Given the description of an element on the screen output the (x, y) to click on. 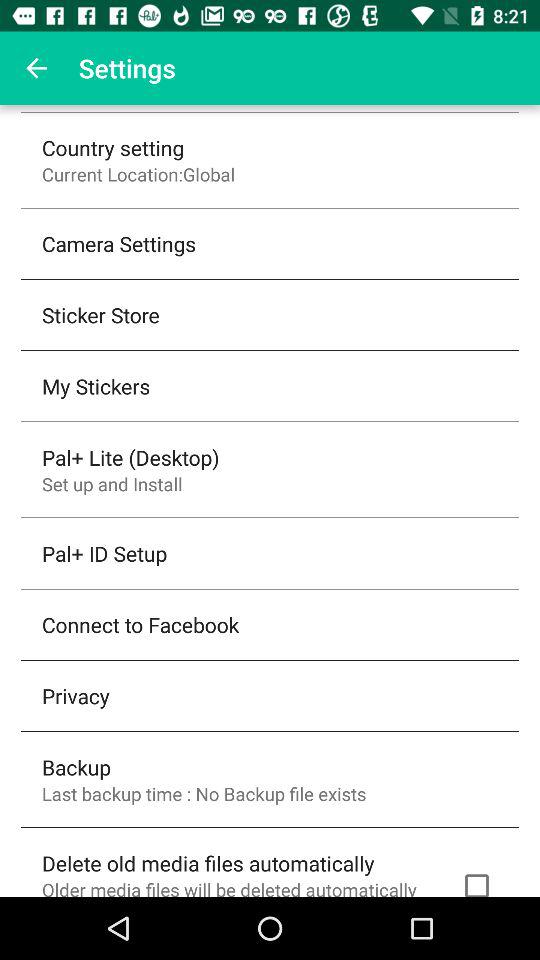
select item below current location:global (119, 243)
